Given the description of an element on the screen output the (x, y) to click on. 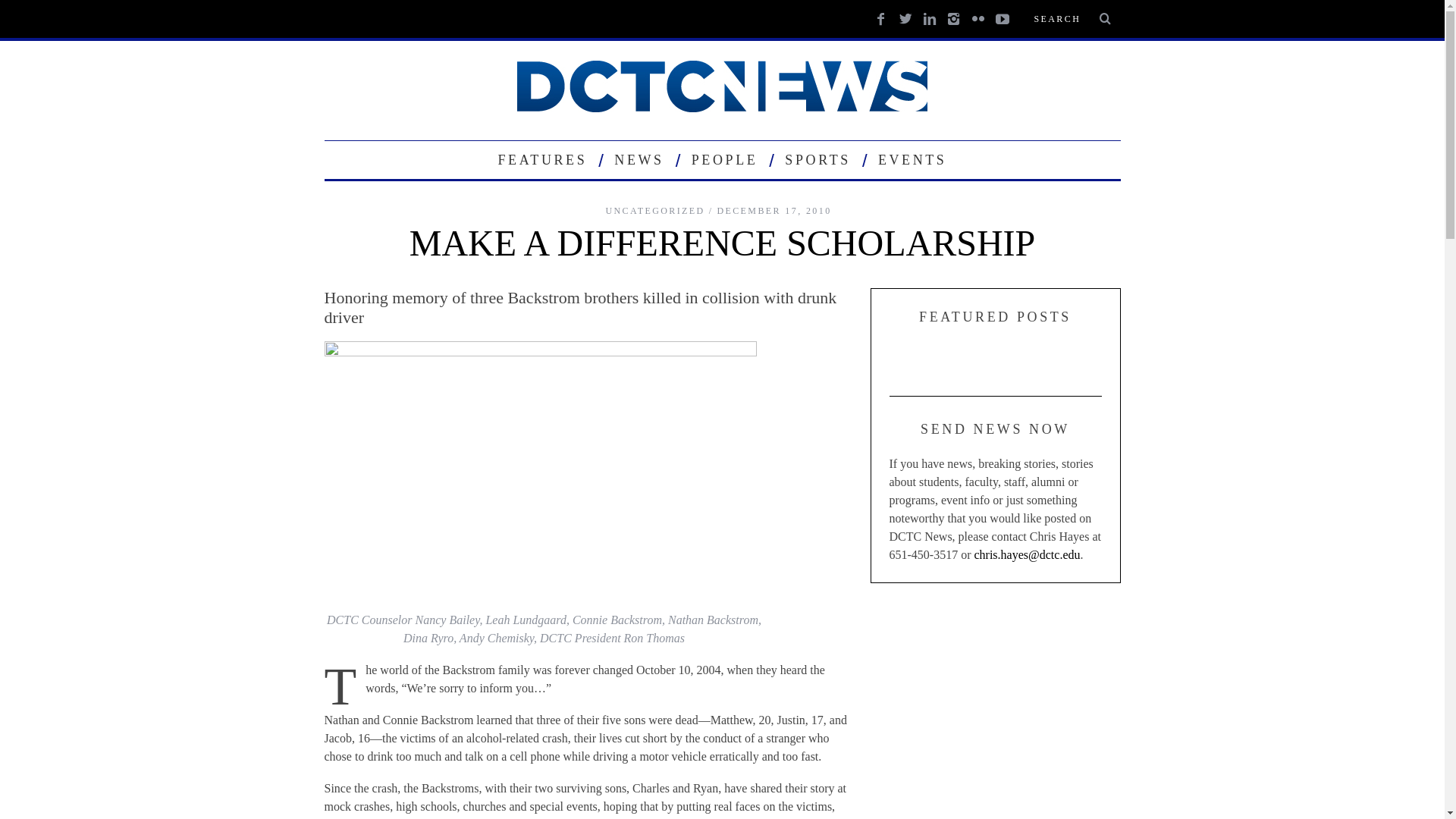
EVENTS (912, 159)
NEWS (638, 159)
SPORTS (817, 159)
Search (1071, 18)
People (724, 159)
News (638, 159)
Sports (817, 159)
Features (542, 159)
Events (912, 159)
PEOPLE (724, 159)
FEATURES (542, 159)
